Given the description of an element on the screen output the (x, y) to click on. 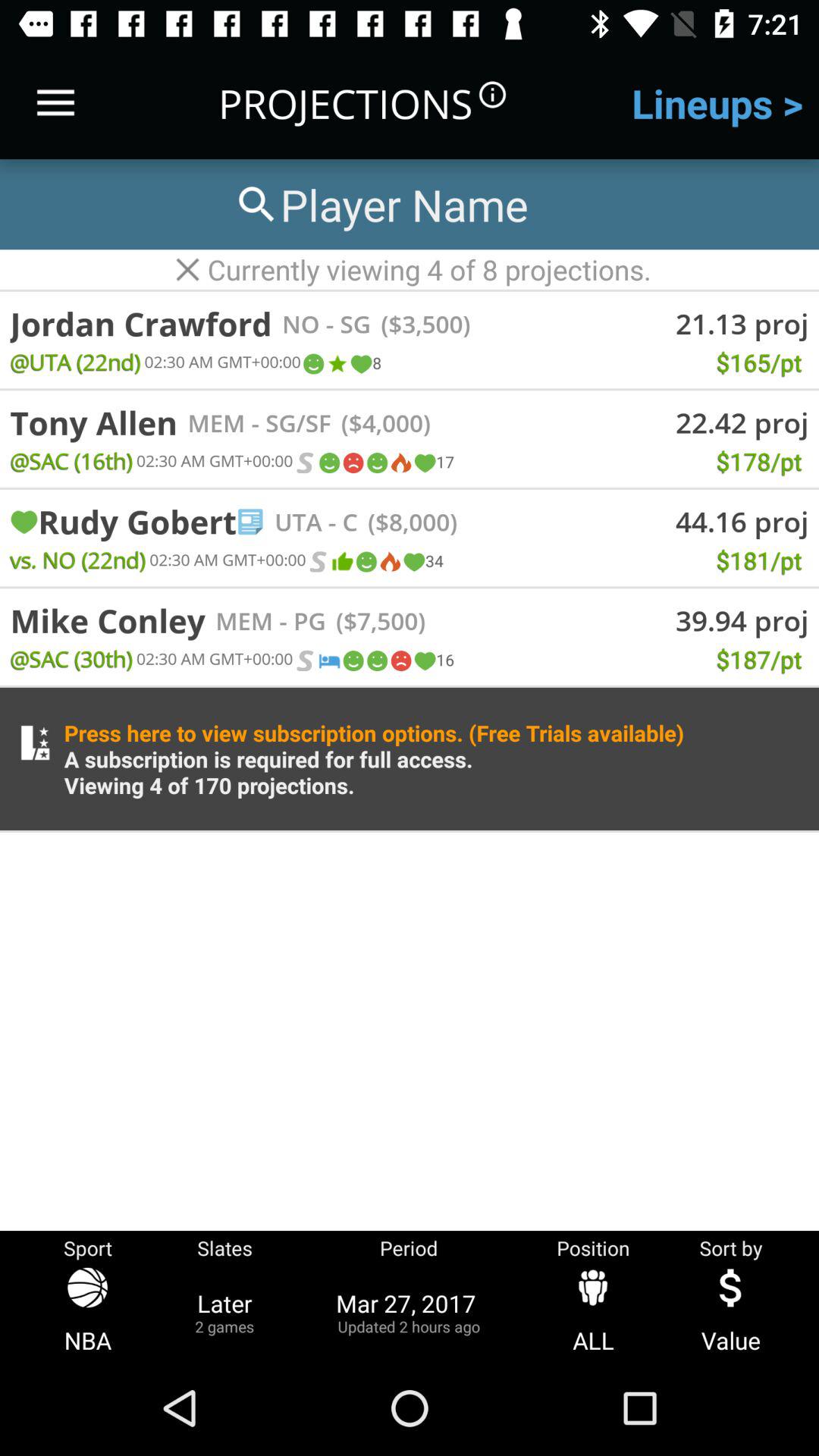
launch icon next to uta item (339, 521)
